Given the description of an element on the screen output the (x, y) to click on. 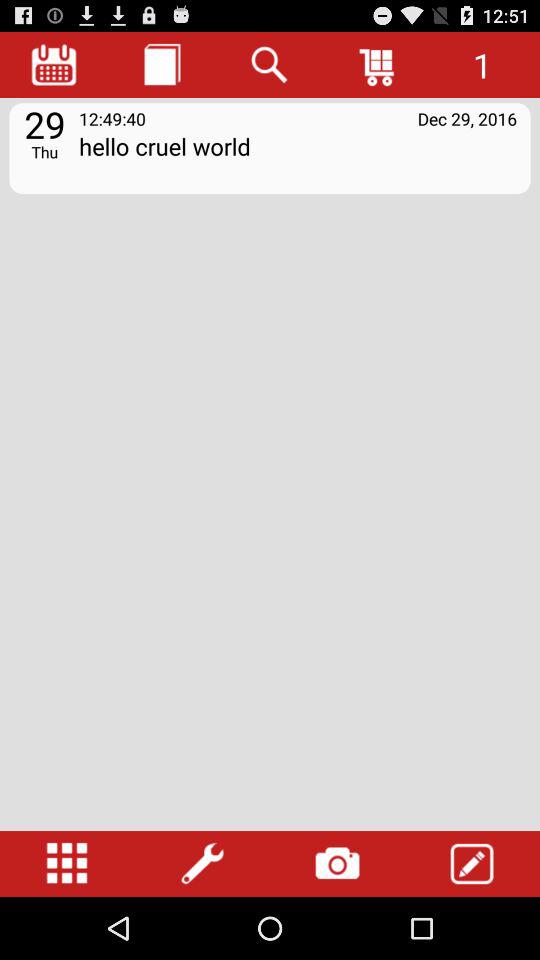
add new event to calendar (472, 863)
